Given the description of an element on the screen output the (x, y) to click on. 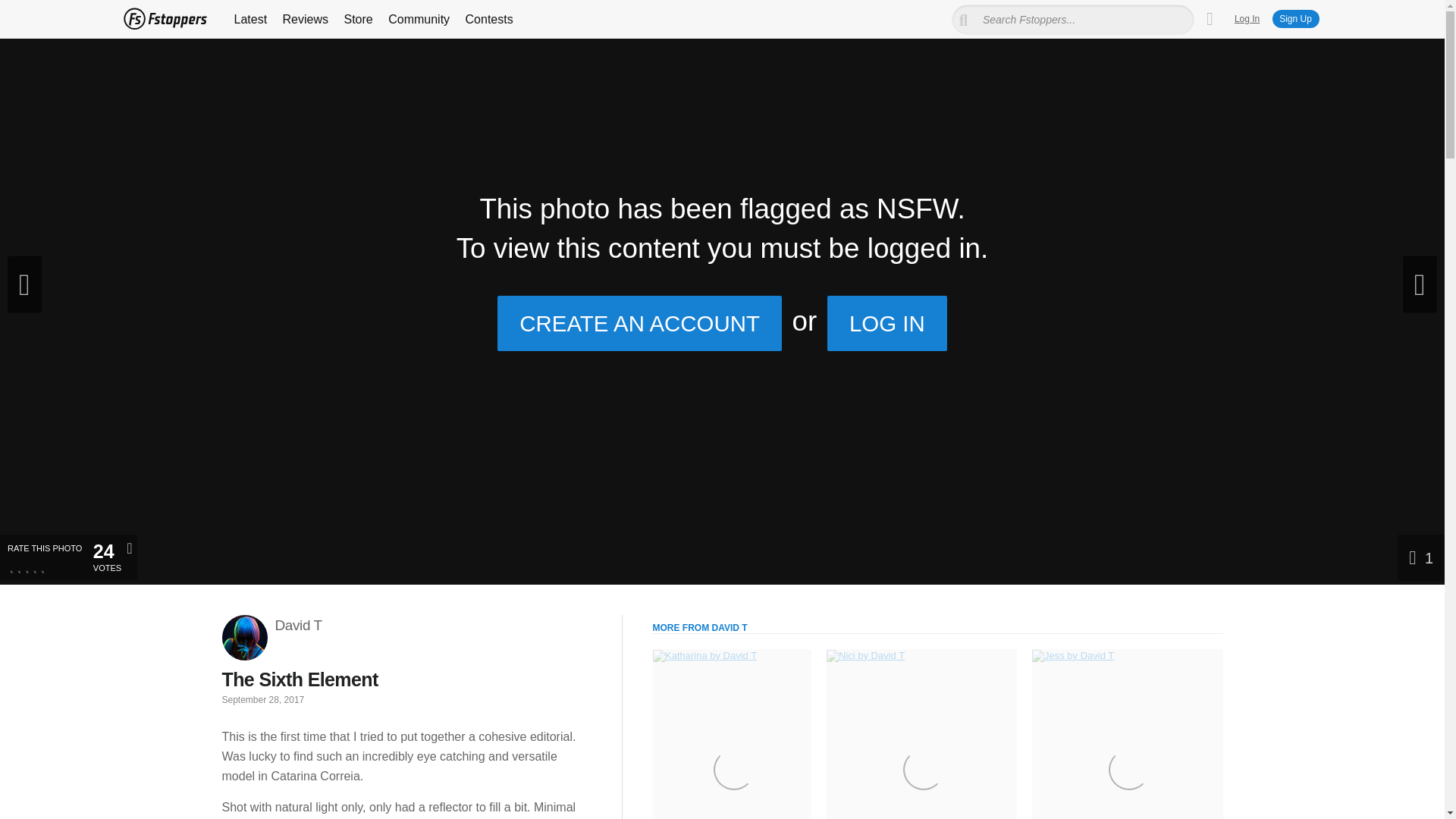
Contests (489, 19)
Store (357, 19)
CREATE AN ACCOUNT (639, 323)
David T (298, 625)
Latest (937, 717)
Sign Up (250, 19)
Log In (1295, 18)
Reviews (1246, 18)
LOG IN (305, 19)
Community (887, 323)
My Cart (418, 19)
Fstoppers (1209, 18)
Search (164, 18)
